Given the description of an element on the screen output the (x, y) to click on. 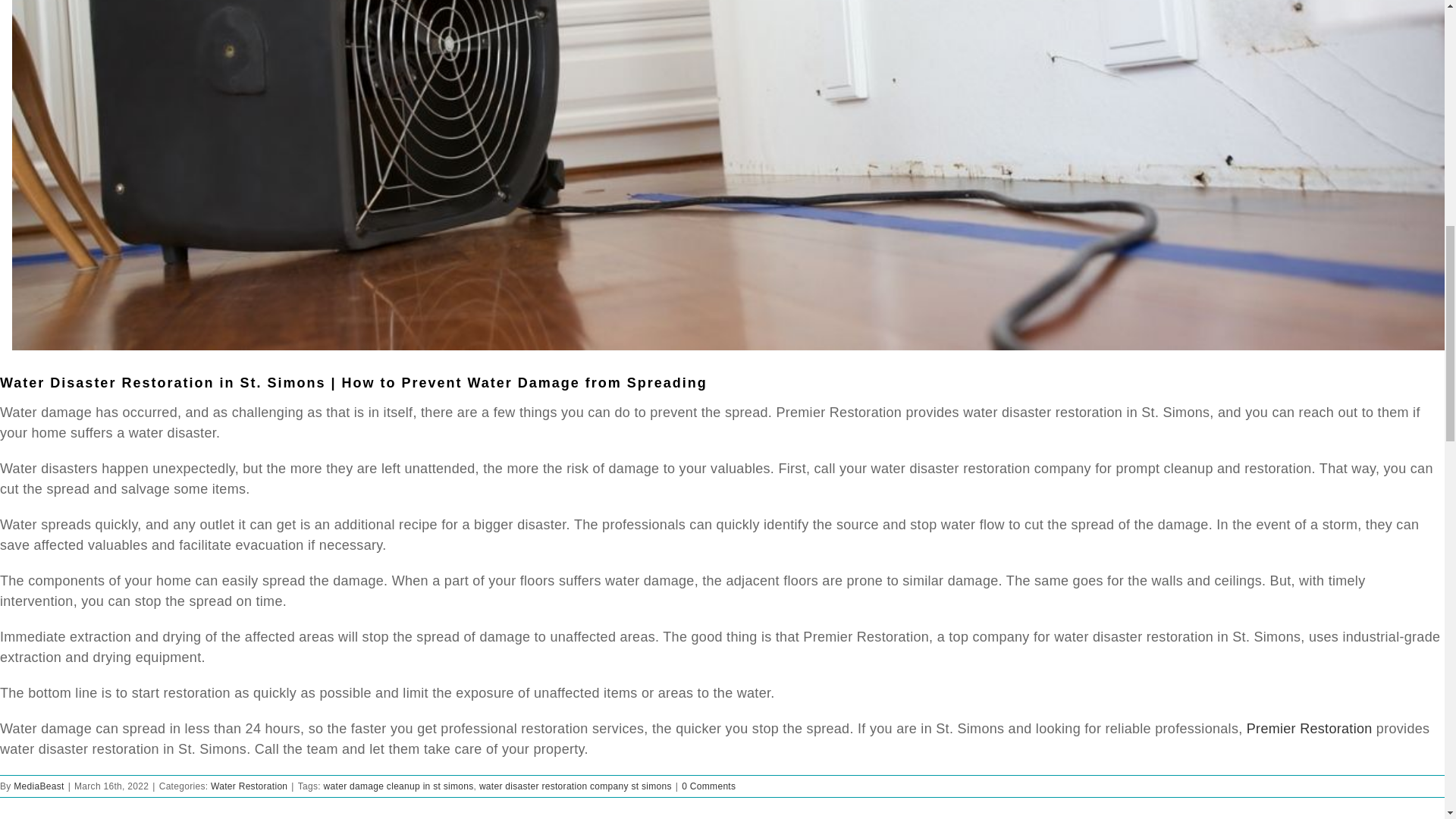
Water Restoration (248, 786)
Premier Restoration (1306, 728)
0 Comments (708, 786)
MediaBeast (38, 786)
water disaster restoration company st simons (575, 786)
water damage cleanup in st simons (398, 786)
Posts by MediaBeast (38, 786)
